Given the description of an element on the screen output the (x, y) to click on. 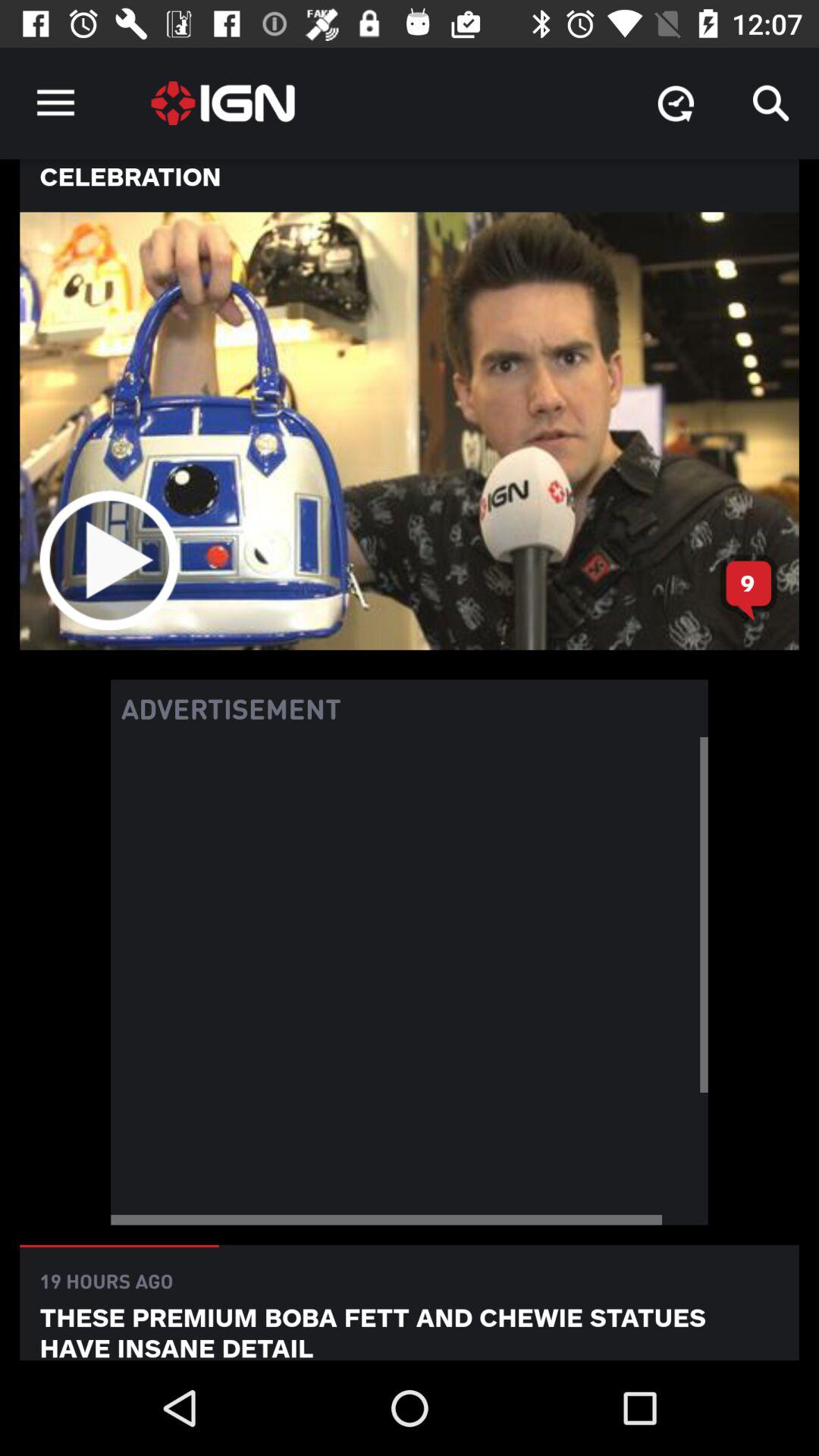
click the icon above none of these item (55, 103)
